Given the description of an element on the screen output the (x, y) to click on. 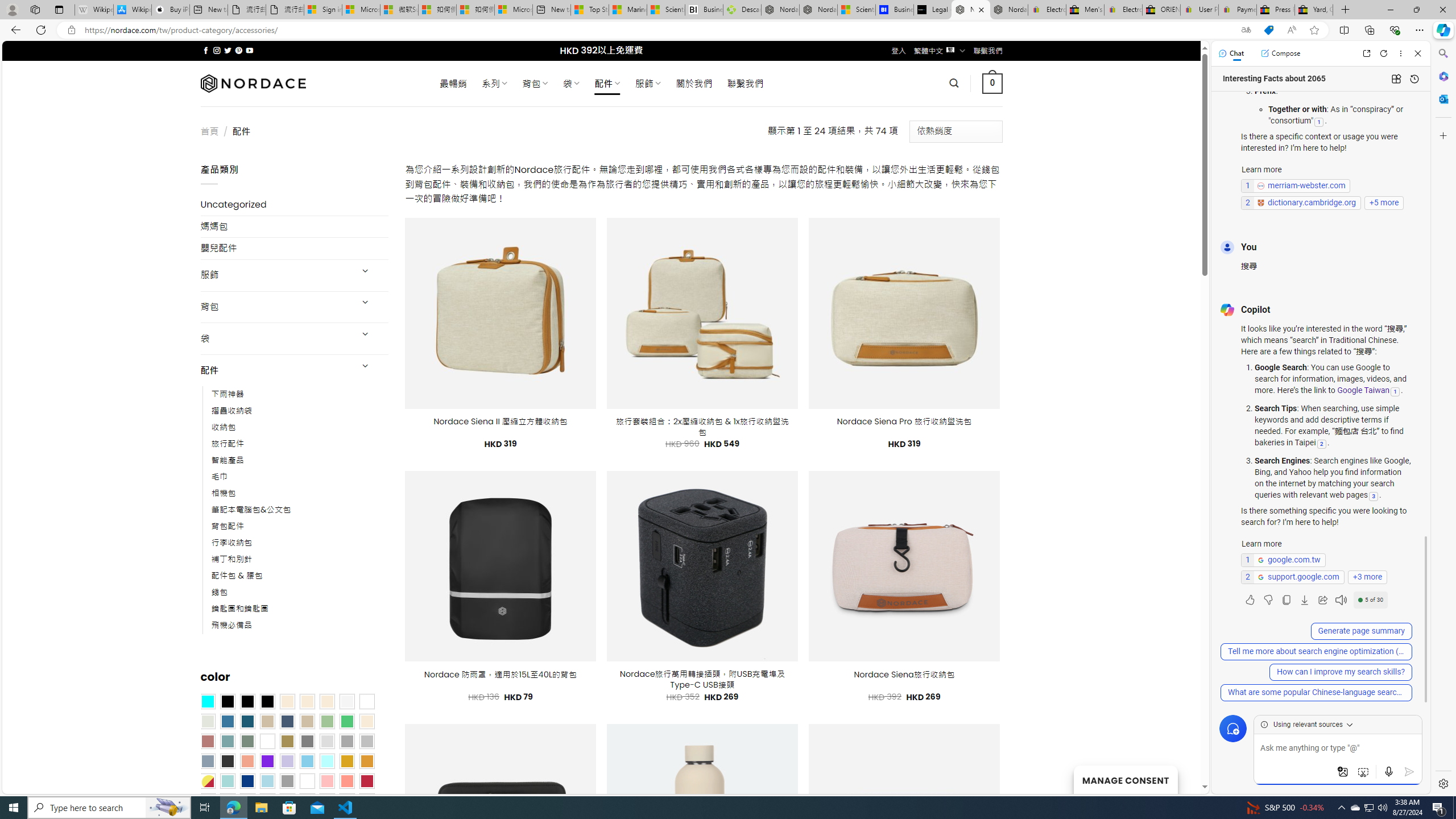
App bar (728, 29)
Cream (327, 701)
